Given the description of an element on the screen output the (x, y) to click on. 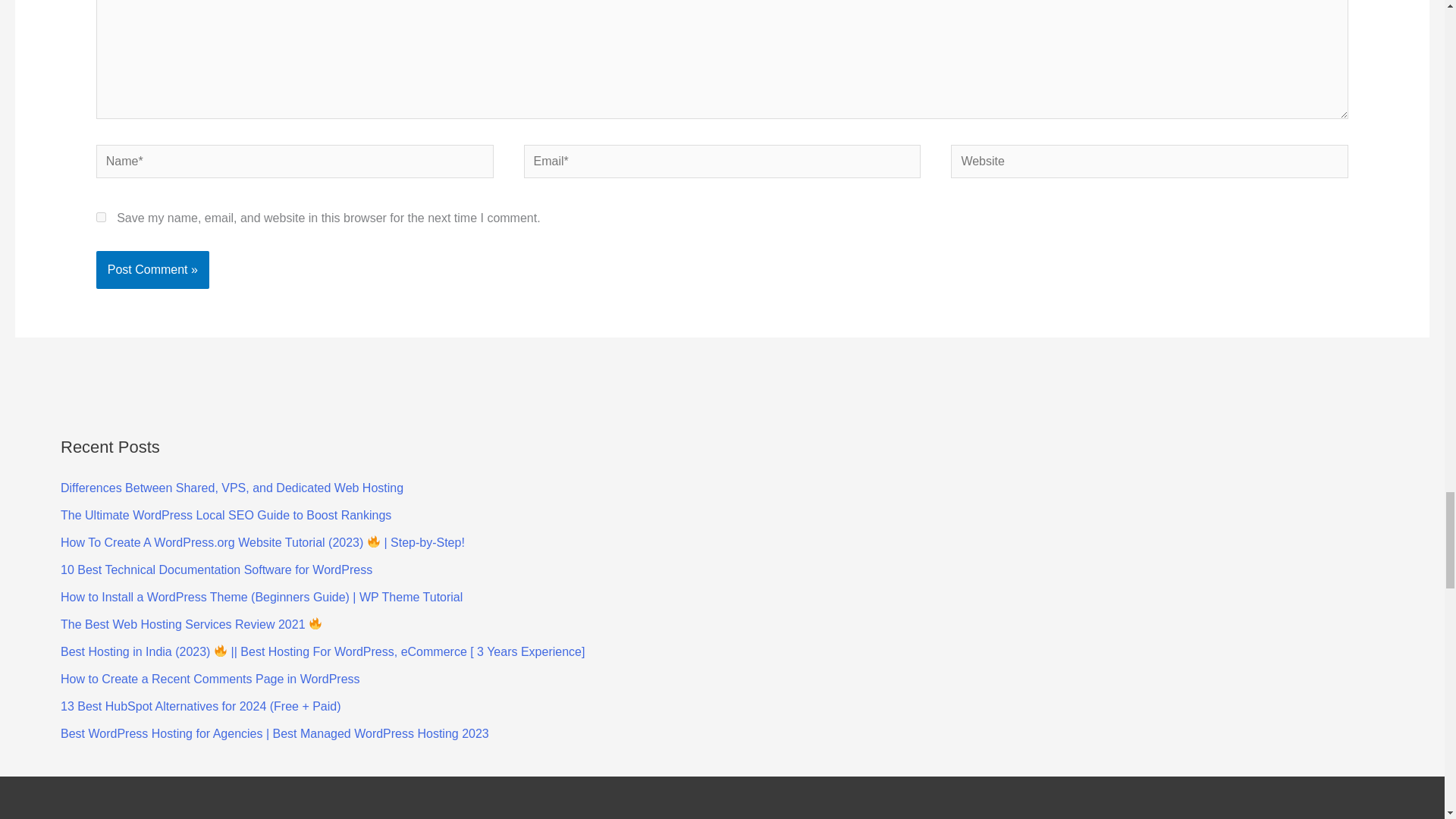
The Best Web Hosting Services Review 2021 (191, 624)
10 Best Technical Documentation Software for WordPress (216, 569)
The Ultimate WordPress Local SEO Guide to Boost Rankings (226, 514)
Differences Between Shared, VPS, and Dedicated Web Hosting (232, 487)
yes (101, 216)
How to Create a Recent Comments Page in WordPress (210, 678)
